Given the description of an element on the screen output the (x, y) to click on. 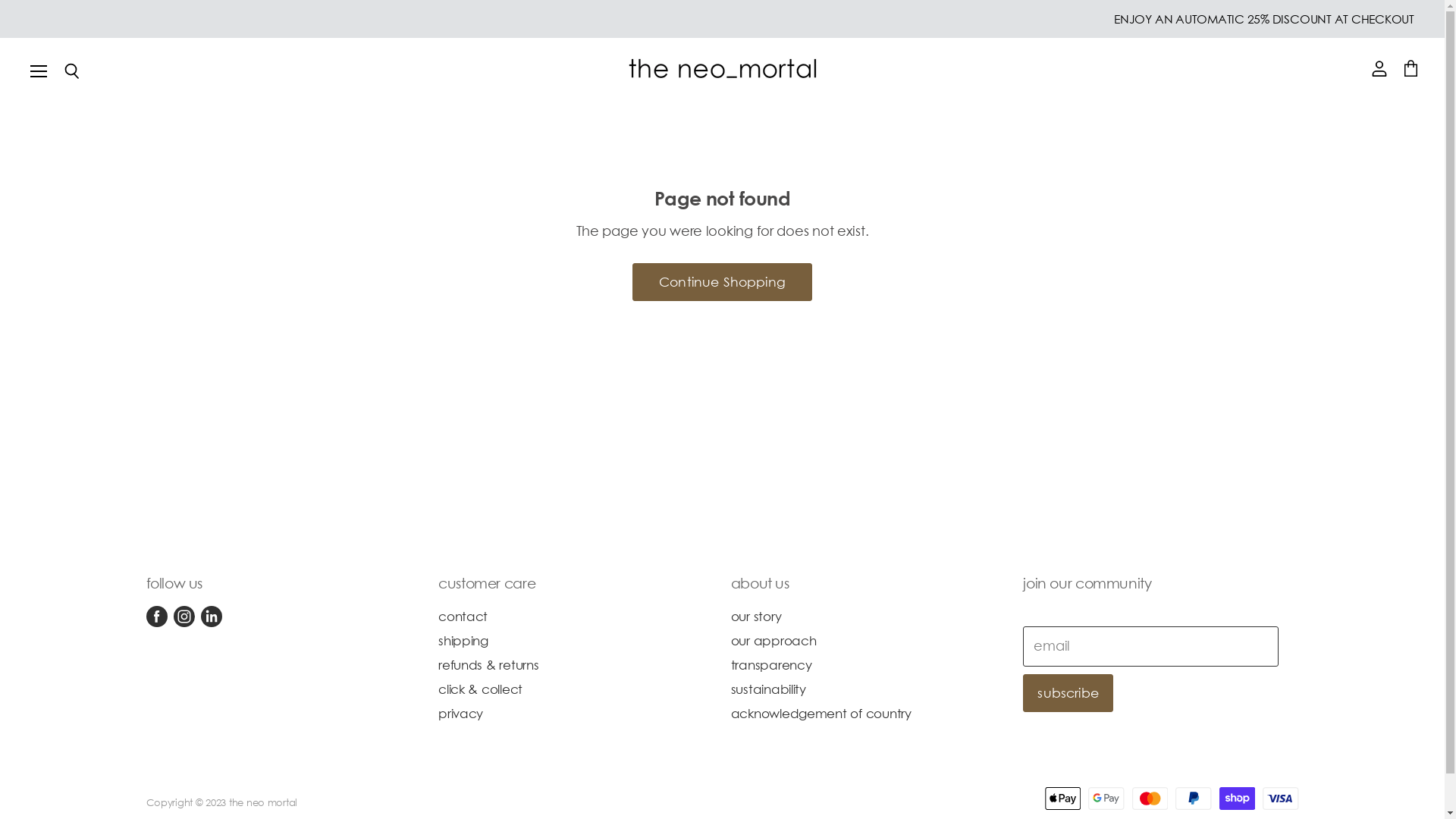
View cart Element type: text (1410, 69)
Continue Shopping Element type: text (722, 282)
shipping Element type: text (463, 640)
transparency Element type: text (771, 664)
Search Element type: text (71, 71)
acknowledgement of country Element type: text (821, 713)
Find us on Facebook Element type: text (155, 616)
sustainability Element type: text (768, 688)
Find us on LinkedIn Element type: text (210, 616)
refunds & returns Element type: text (488, 664)
Find us on Instagram Element type: text (183, 616)
our story Element type: text (756, 616)
subscribe Element type: text (1067, 693)
click & collect Element type: text (480, 688)
View account Element type: text (1379, 69)
Menu Element type: text (38, 70)
privacy Element type: text (460, 713)
ENJOY AN AUTOMATIC 25% DISCOUNT AT CHECKOUT Element type: text (1263, 18)
our approach Element type: text (773, 640)
contact Element type: text (462, 616)
